Given the description of an element on the screen output the (x, y) to click on. 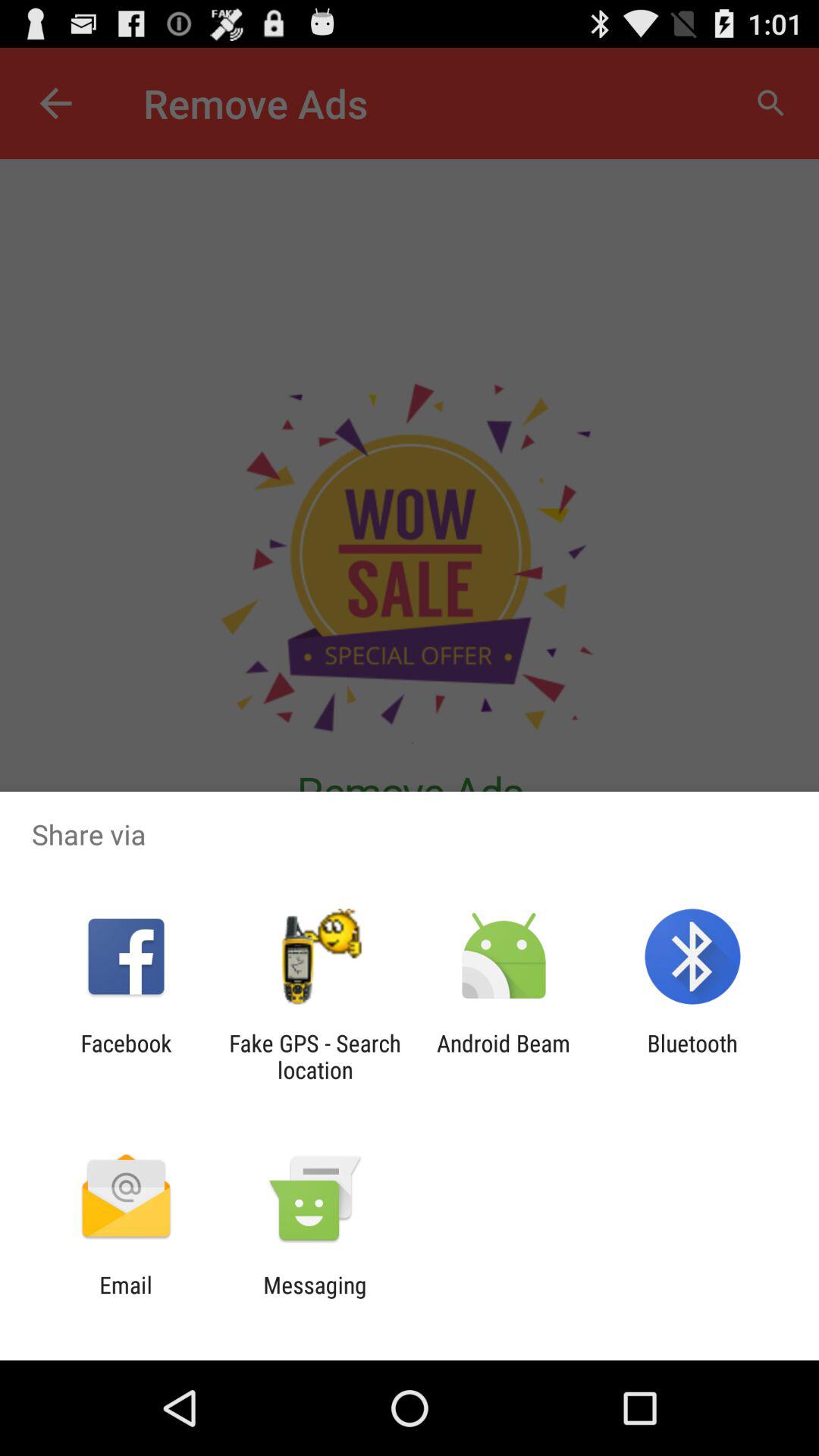
turn off the app to the right of the email icon (314, 1298)
